Given the description of an element on the screen output the (x, y) to click on. 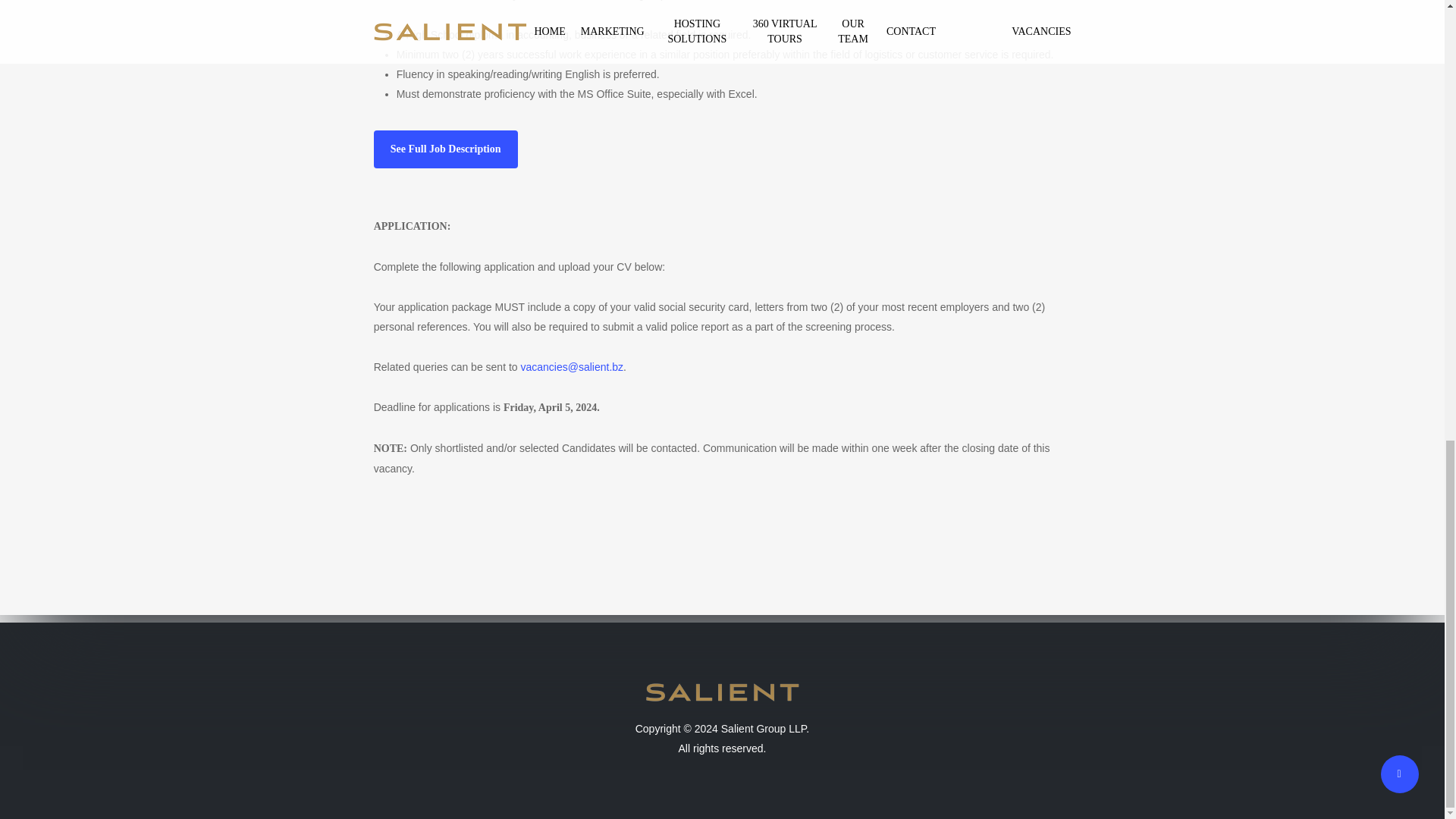
See Full Job Description (446, 149)
